Given the description of an element on the screen output the (x, y) to click on. 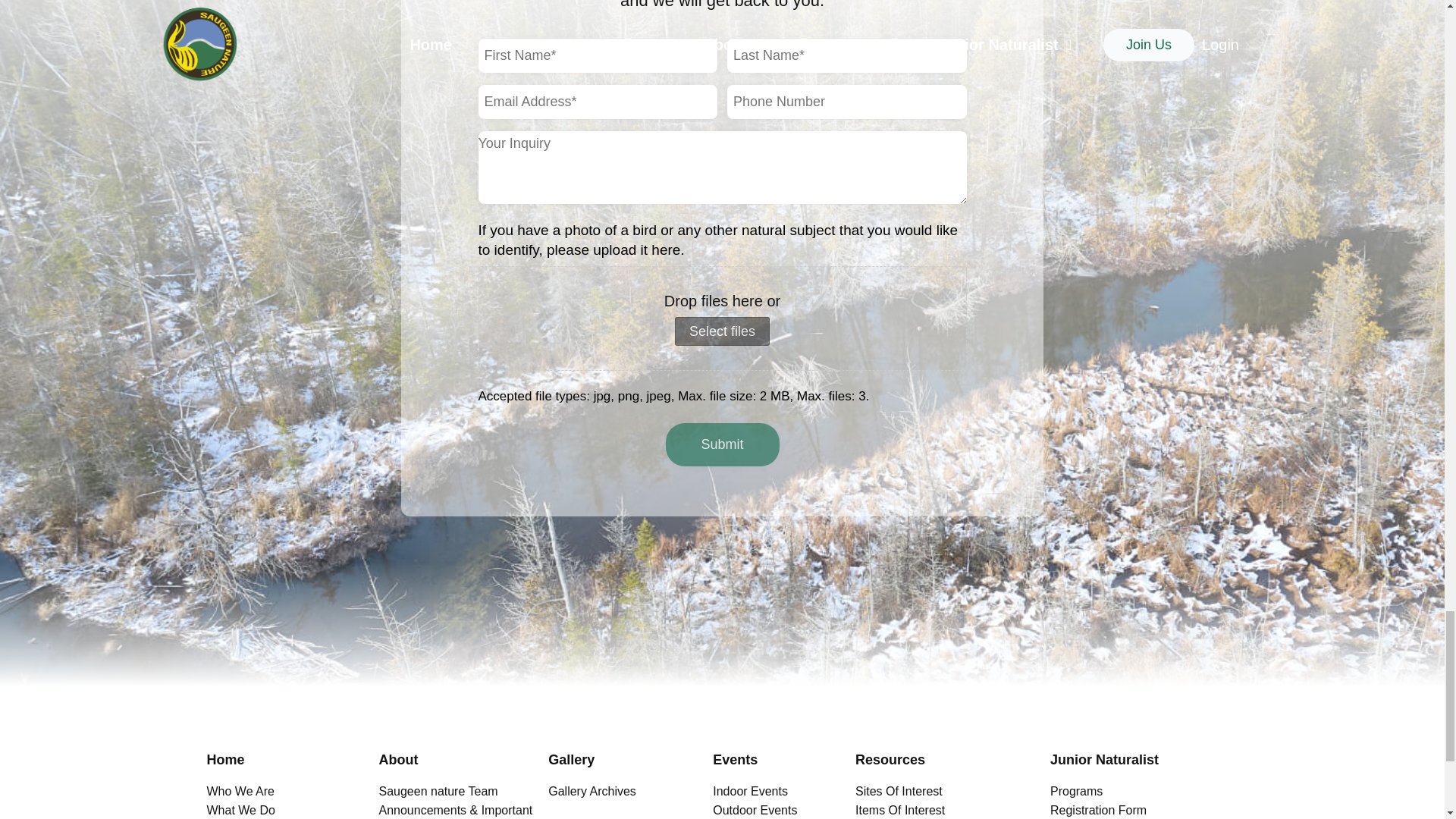
Submit (721, 444)
